Given the description of an element on the screen output the (x, y) to click on. 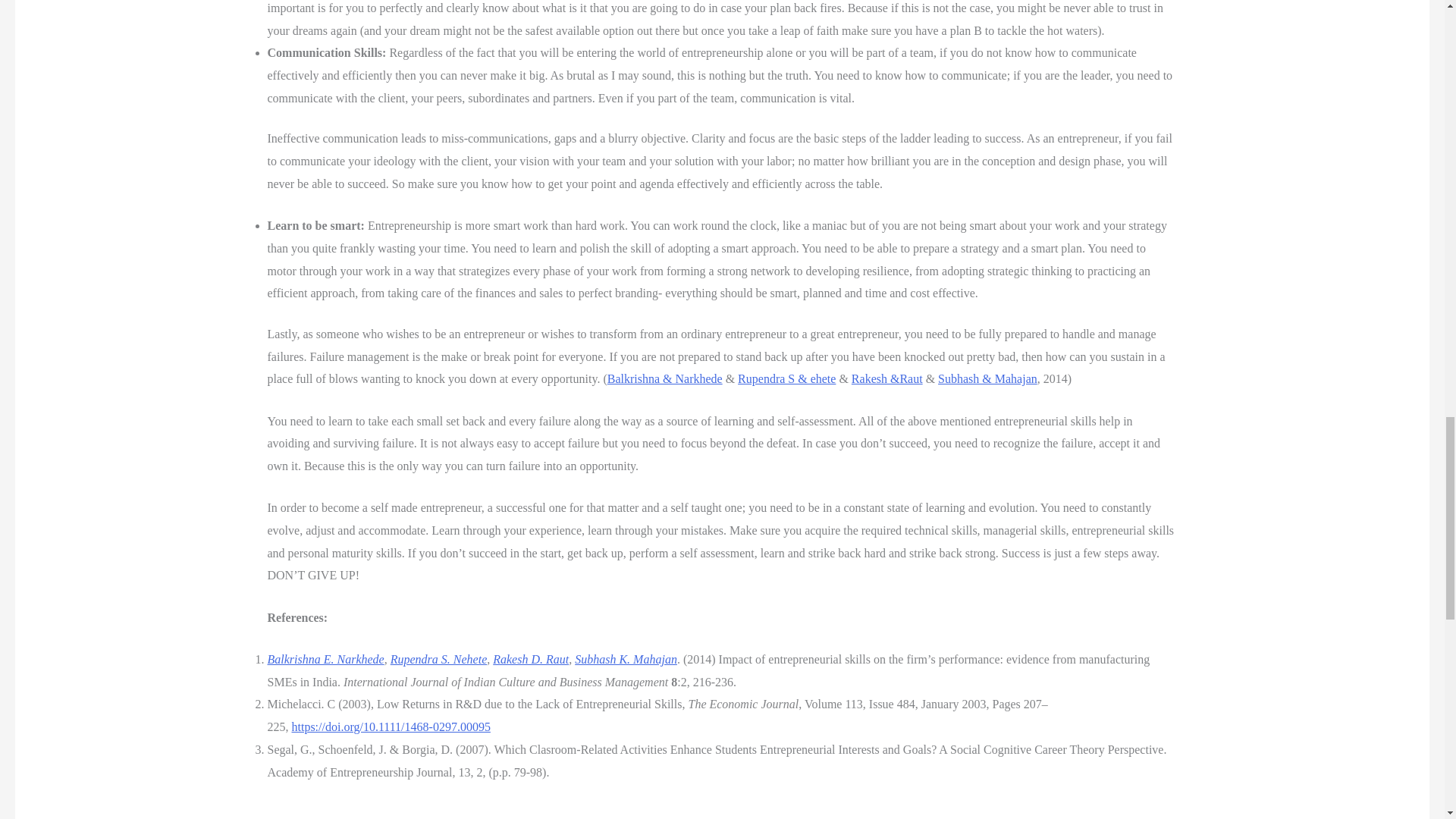
Rupendra S. Nehete (438, 658)
Balkrishna E. Narkhede (325, 658)
Rakesh D. Raut (531, 658)
Subhash K. Mahajan (626, 658)
